Given the description of an element on the screen output the (x, y) to click on. 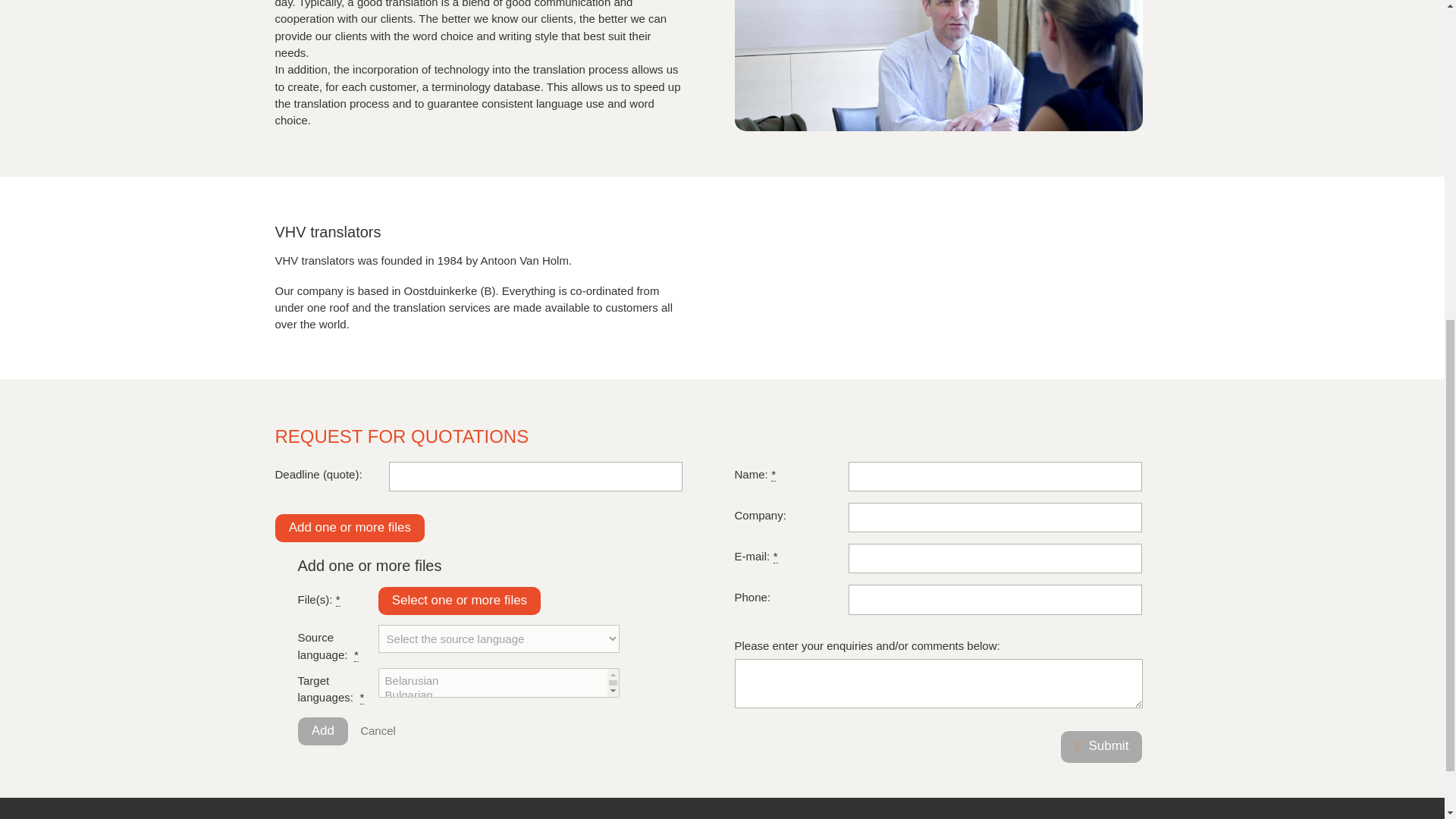
Submit (1101, 746)
Add one or more files (350, 528)
Add (322, 731)
Cancel (377, 730)
